Given the description of an element on the screen output the (x, y) to click on. 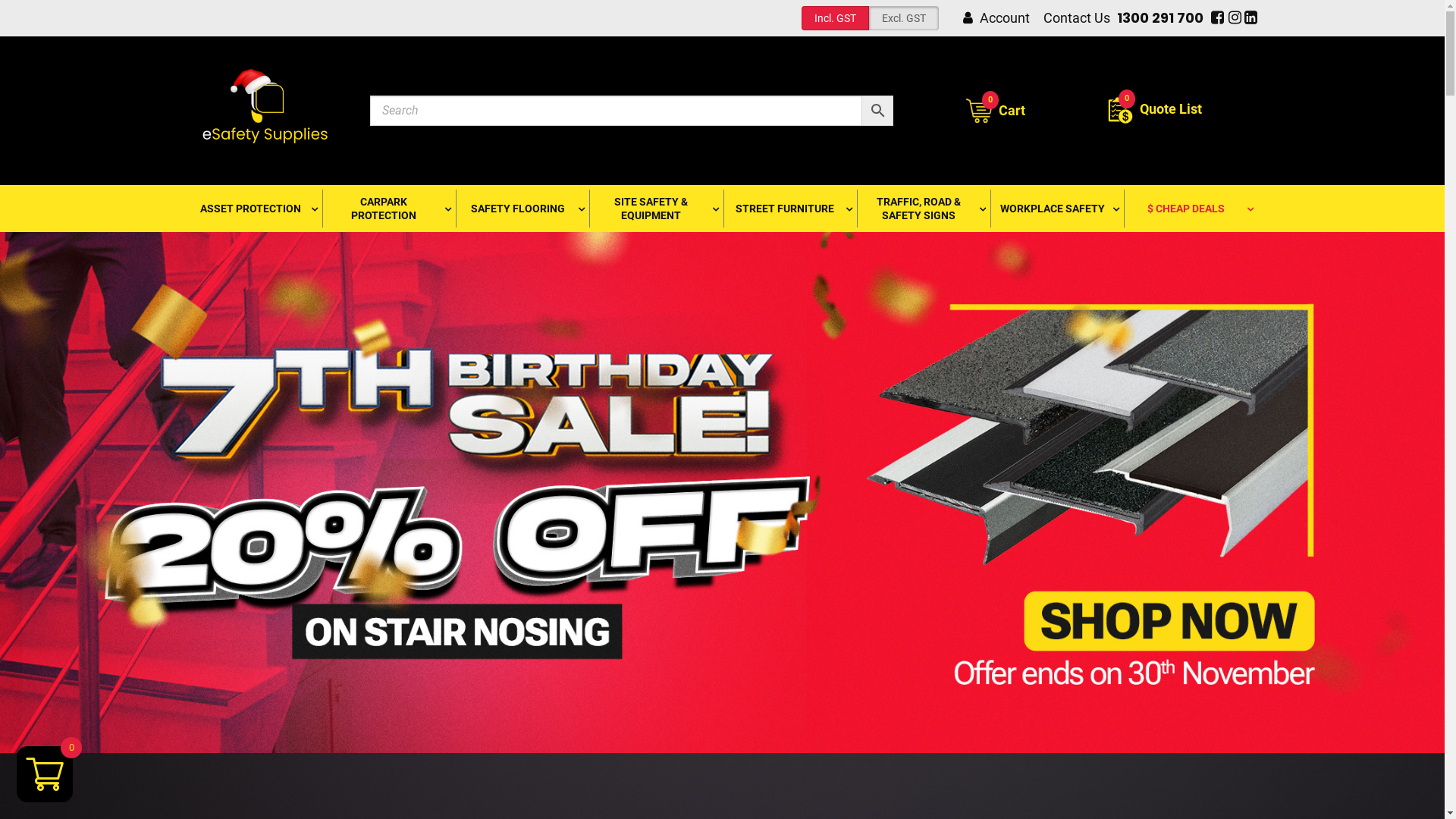
eSafety Supplies Element type: hover (267, 110)
ASSET PROTECTION Element type: text (254, 208)
WORKPLACE SAFETY Element type: text (1056, 208)
Account Element type: text (1004, 17)
1300 291 700 Element type: text (1160, 17)
0
Cart Element type: text (995, 110)
Contact Us Element type: text (1076, 17)
SAFETY FLOORING Element type: text (521, 208)
$ CHEAP DEALS Element type: text (1189, 208)
TRAFFIC, ROAD & SAFETY SIGNS Element type: text (922, 208)
SITE SAFETY & EQUIPMENT Element type: text (654, 208)
STREET FURNITURE Element type: text (788, 208)
Quote List Element type: text (1154, 110)
0 Element type: text (1125, 98)
CARPARK PROTECTION Element type: text (388, 208)
